Given the description of an element on the screen output the (x, y) to click on. 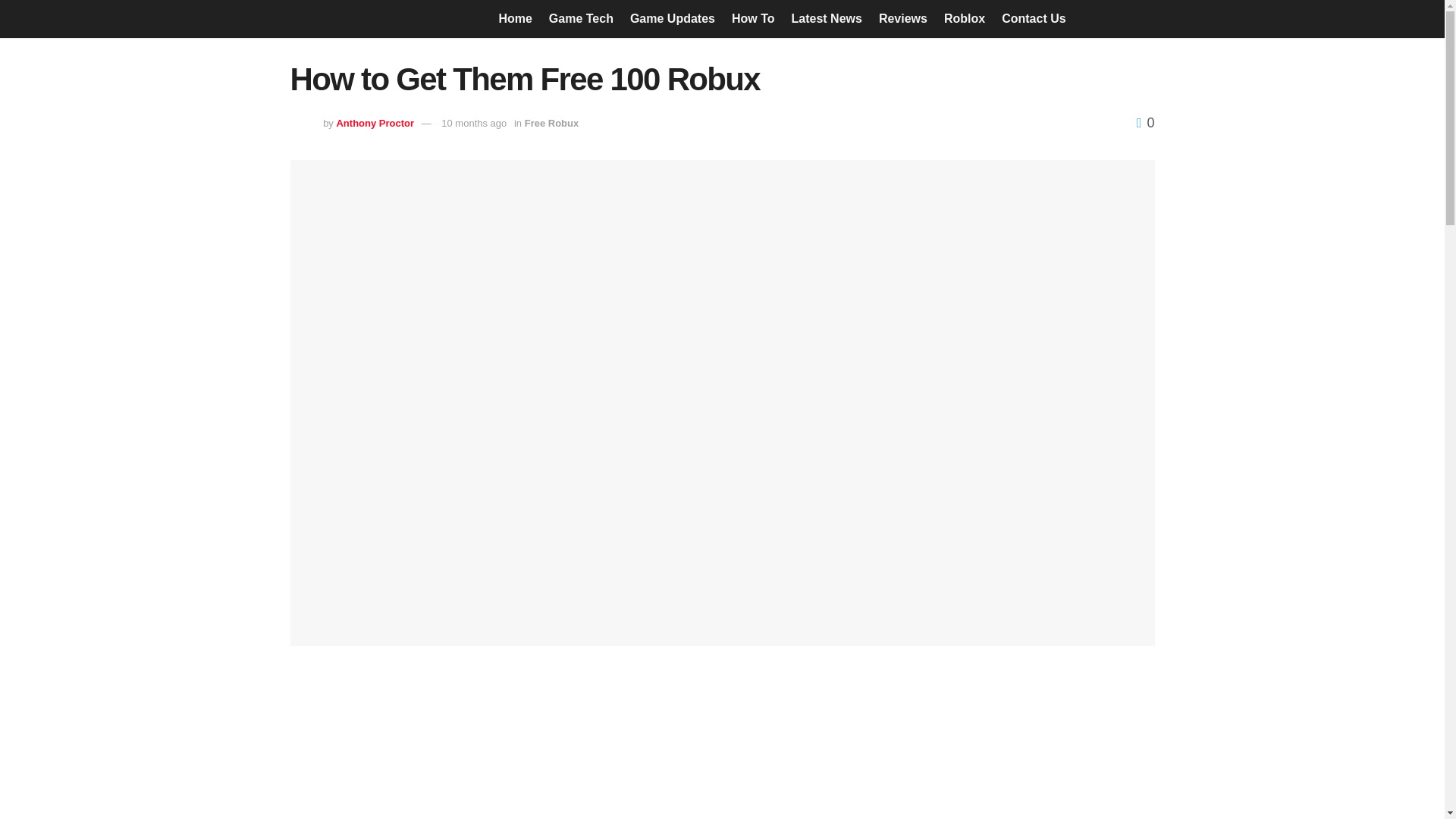
Game Updates (672, 18)
Anthony Proctor (374, 122)
Contact Us (1033, 18)
0 (1145, 122)
Reviews (903, 18)
Free Robux (551, 122)
How To (753, 18)
Roblox (964, 18)
Game Tech (580, 18)
Latest News (826, 18)
Home (514, 18)
10 months ago (473, 122)
